Given the description of an element on the screen output the (x, y) to click on. 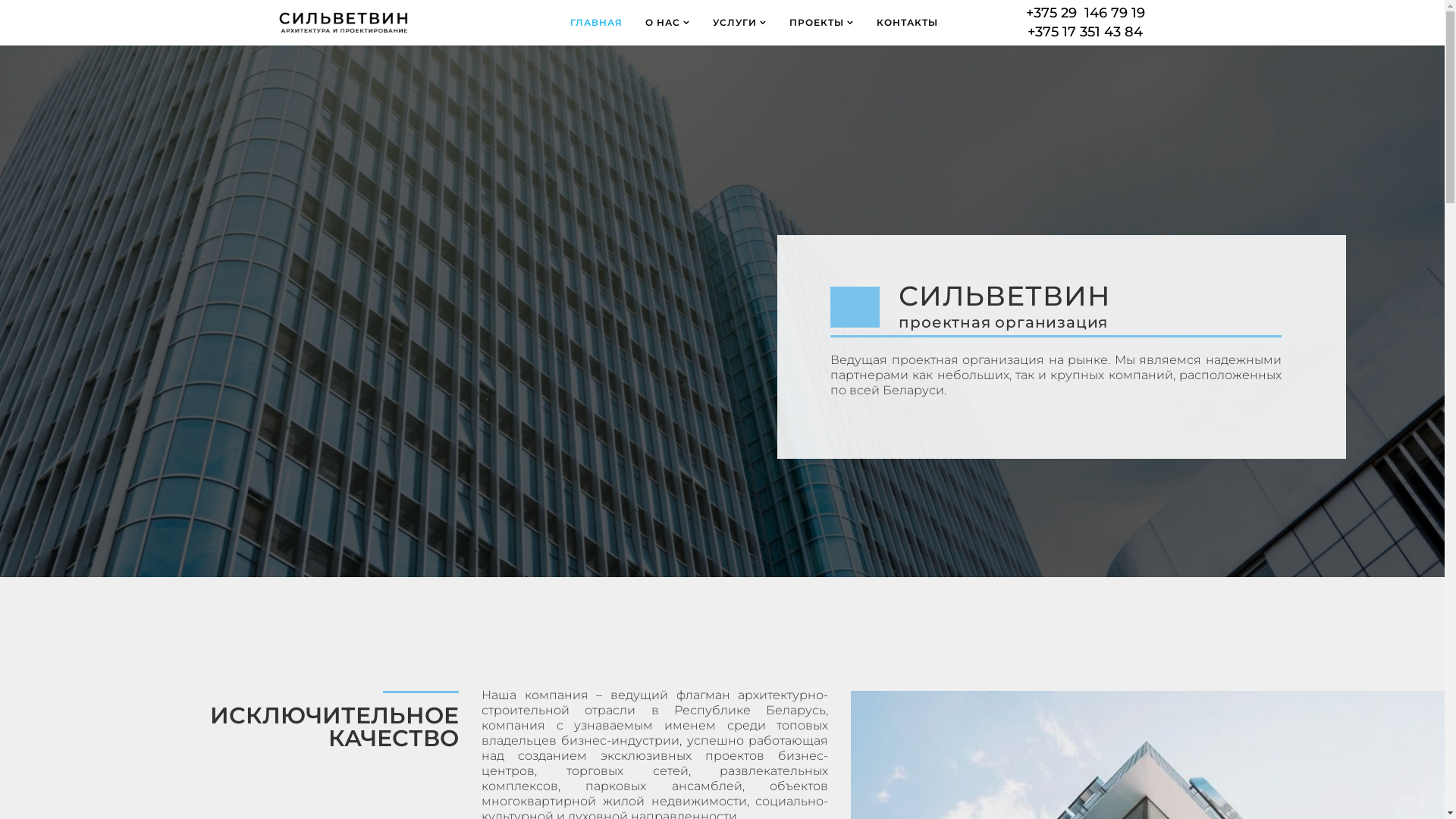
+375 29  146 79 19 Element type: text (1085, 12)
+375 17 351 43 84 Element type: text (1084, 31)
